Given the description of an element on the screen output the (x, y) to click on. 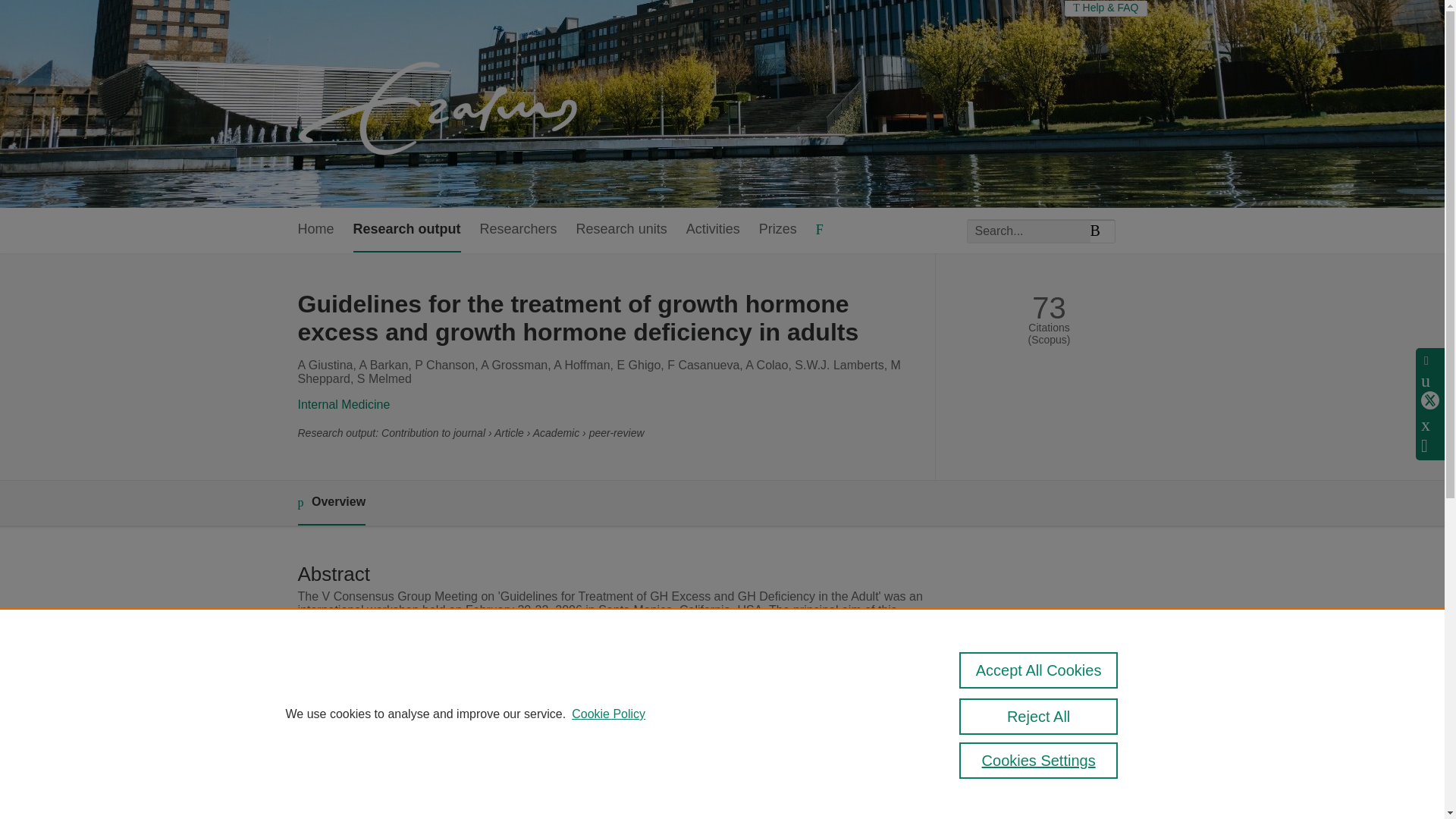
Accept All Cookies (1038, 669)
Cookie Policy (608, 713)
Erasmus University Rotterdam Home (441, 103)
Activities (712, 230)
Internal Medicine (343, 404)
Research units (621, 230)
Reject All (1038, 716)
Research output (407, 230)
Journal of Endocrinological Investigation (615, 768)
